Given the description of an element on the screen output the (x, y) to click on. 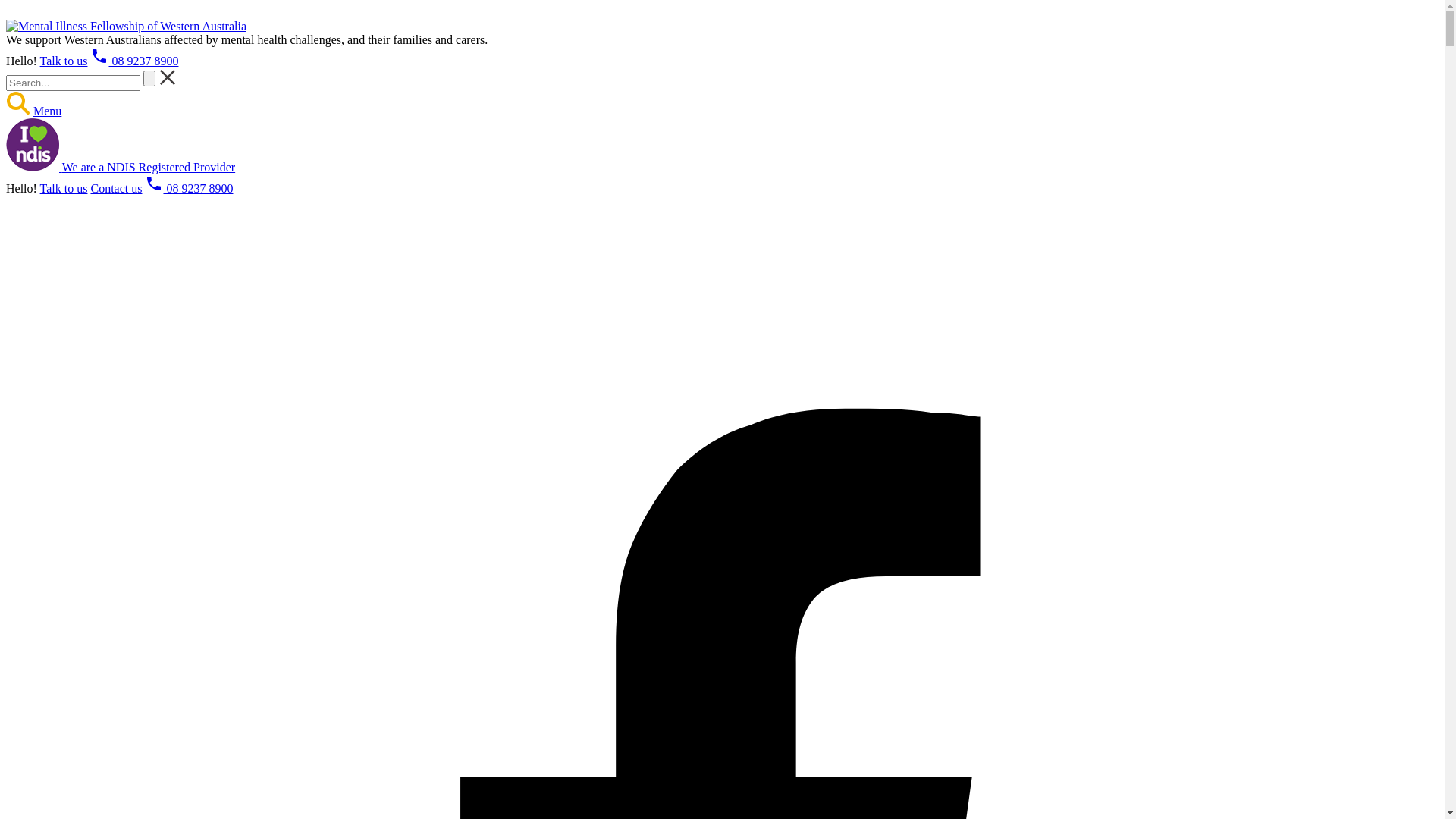
Talk to us Element type: text (63, 60)
We are a NDIS Registered Provider Element type: text (120, 166)
phone 08 9237 8900 Element type: text (188, 188)
Contact us Element type: text (115, 188)
phone 08 9237 8900 Element type: text (134, 60)
Talk to us Element type: text (63, 188)
Menu Element type: text (47, 110)
